Given the description of an element on the screen output the (x, y) to click on. 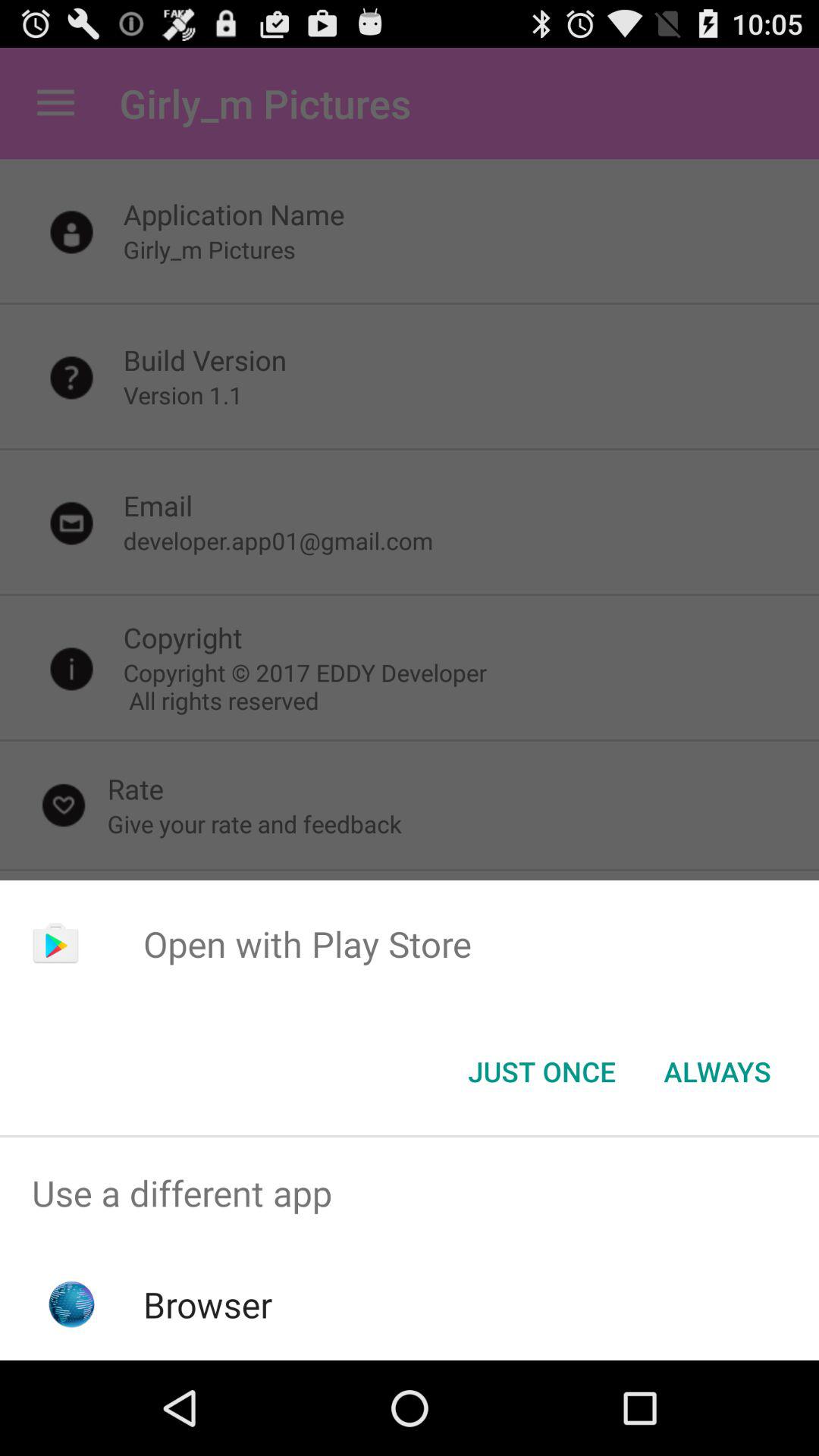
click the browser (207, 1304)
